Given the description of an element on the screen output the (x, y) to click on. 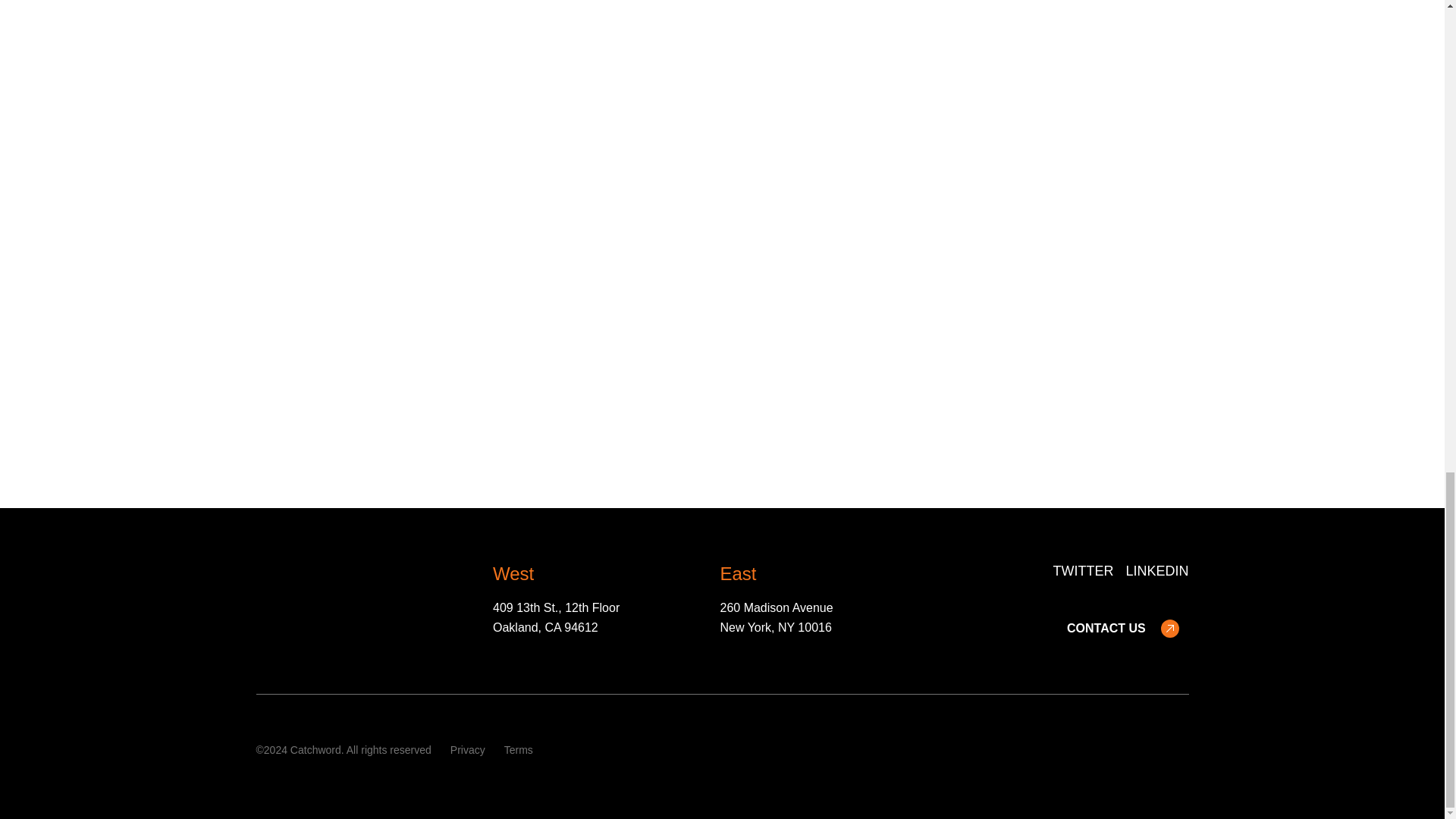
LINKEDIN (1156, 571)
Privacy (466, 750)
TWITTER (1082, 571)
CONTACT US (1123, 628)
Terms (517, 750)
